Given the description of an element on the screen output the (x, y) to click on. 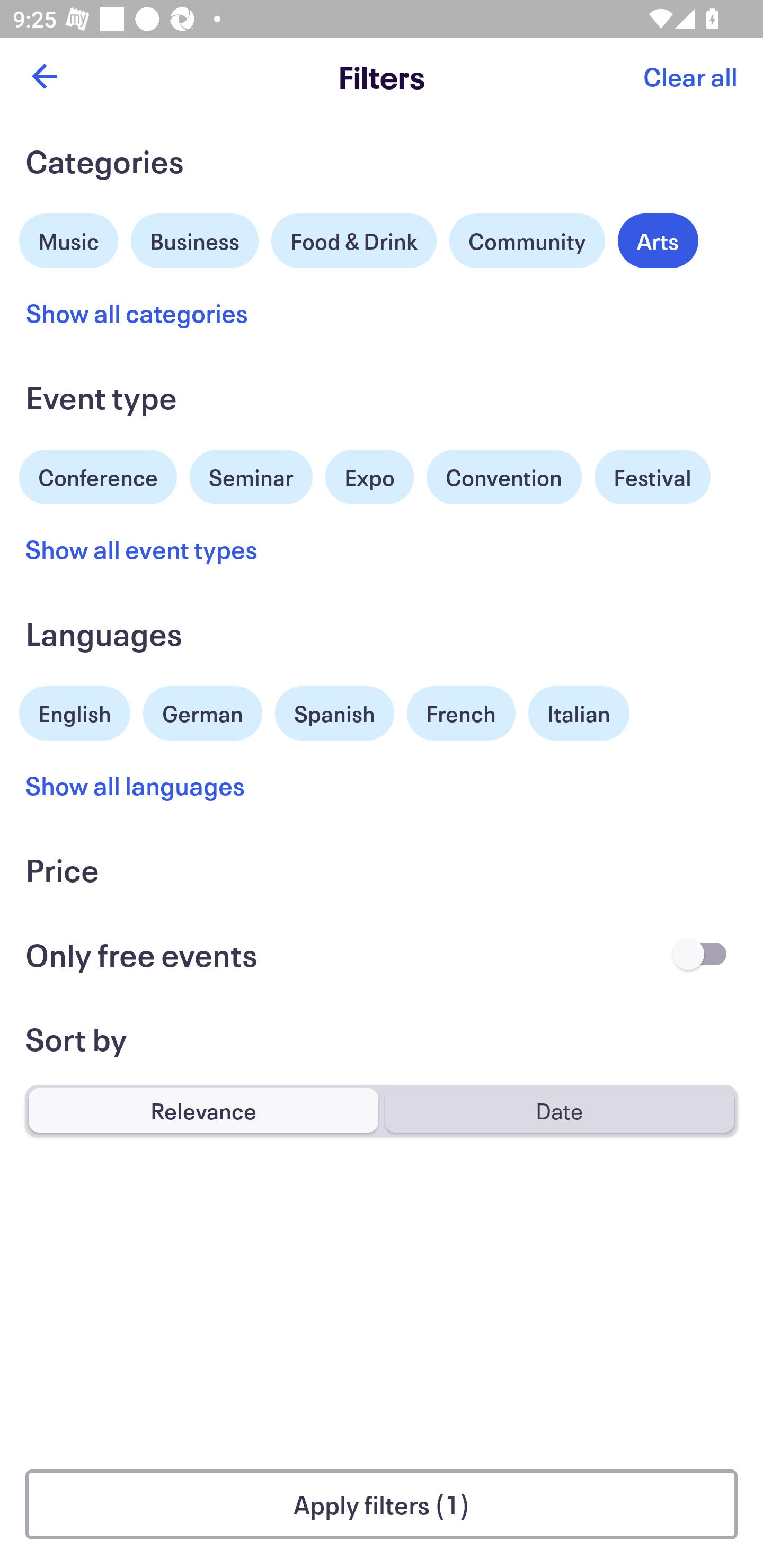
Back button (44, 75)
Clear all (690, 75)
Music (68, 238)
Business (194, 238)
Food & Drink (353, 240)
Community (527, 240)
Arts (658, 240)
Show all categories (136, 312)
Conference (98, 475)
Seminar (250, 477)
Expo (369, 477)
Convention (503, 477)
Festival (652, 477)
Show all event types (141, 548)
English (74, 710)
German (202, 710)
Spanish (334, 713)
French (460, 713)
Italian (578, 713)
Show all languages (135, 784)
Relevance (203, 1109)
Date (559, 1109)
Apply filters (1) (381, 1504)
